Given the description of an element on the screen output the (x, y) to click on. 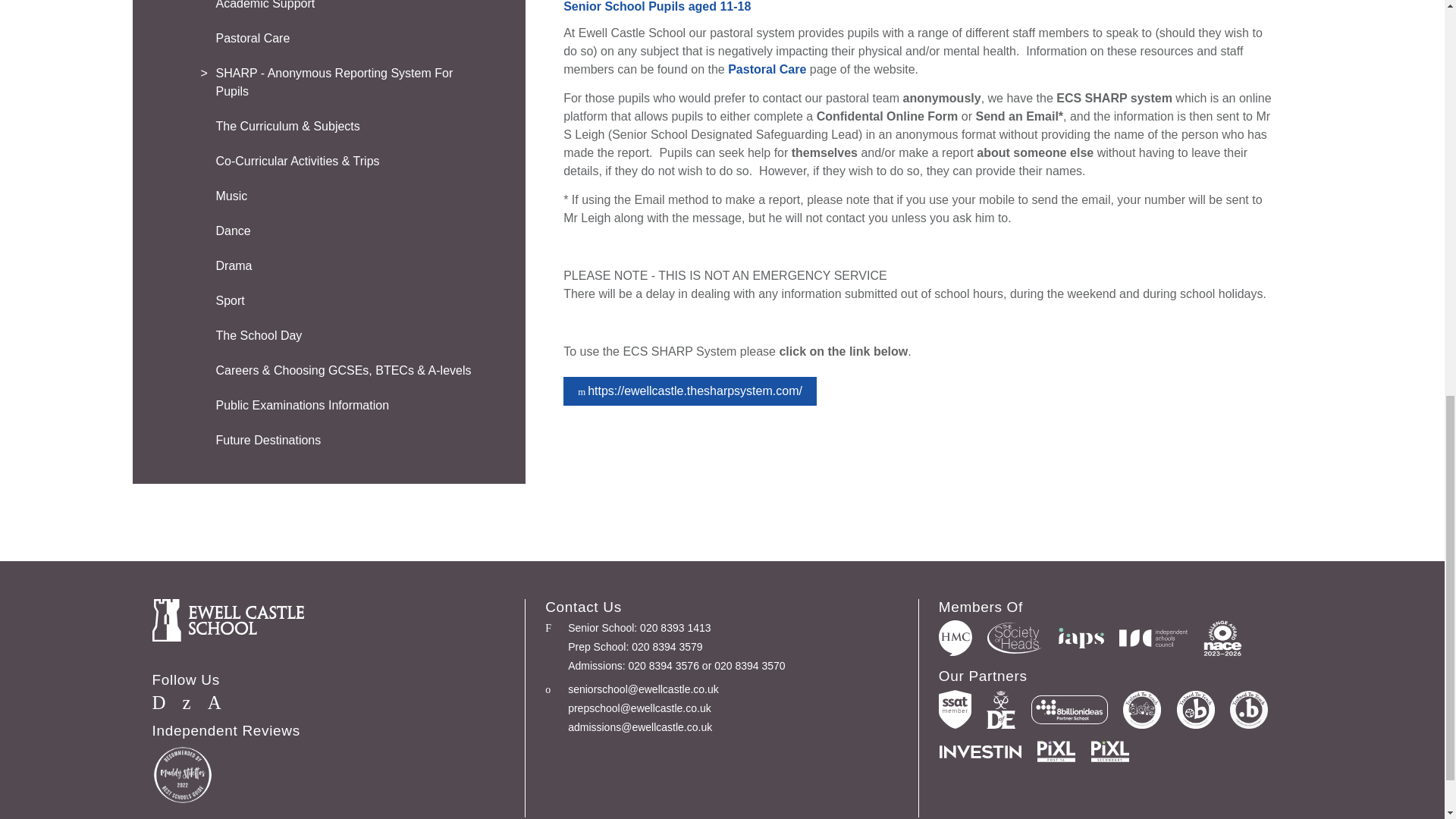
InvestIN (980, 751)
ECS SHARP System (689, 390)
Teach Paws b (1195, 709)
The Society of Heads (1014, 637)
PiXL Post 16 (1055, 751)
The Independent Association of Prep Schools (1080, 638)
Teach .b (1249, 709)
Independent Schools Council (1153, 637)
NACE Challenge Award (1222, 637)
8billionideas Partner School (1069, 709)
Teach dots (1141, 709)
Muddy Stilettos (181, 774)
PiXL Secondary (1109, 751)
